Given the description of an element on the screen output the (x, y) to click on. 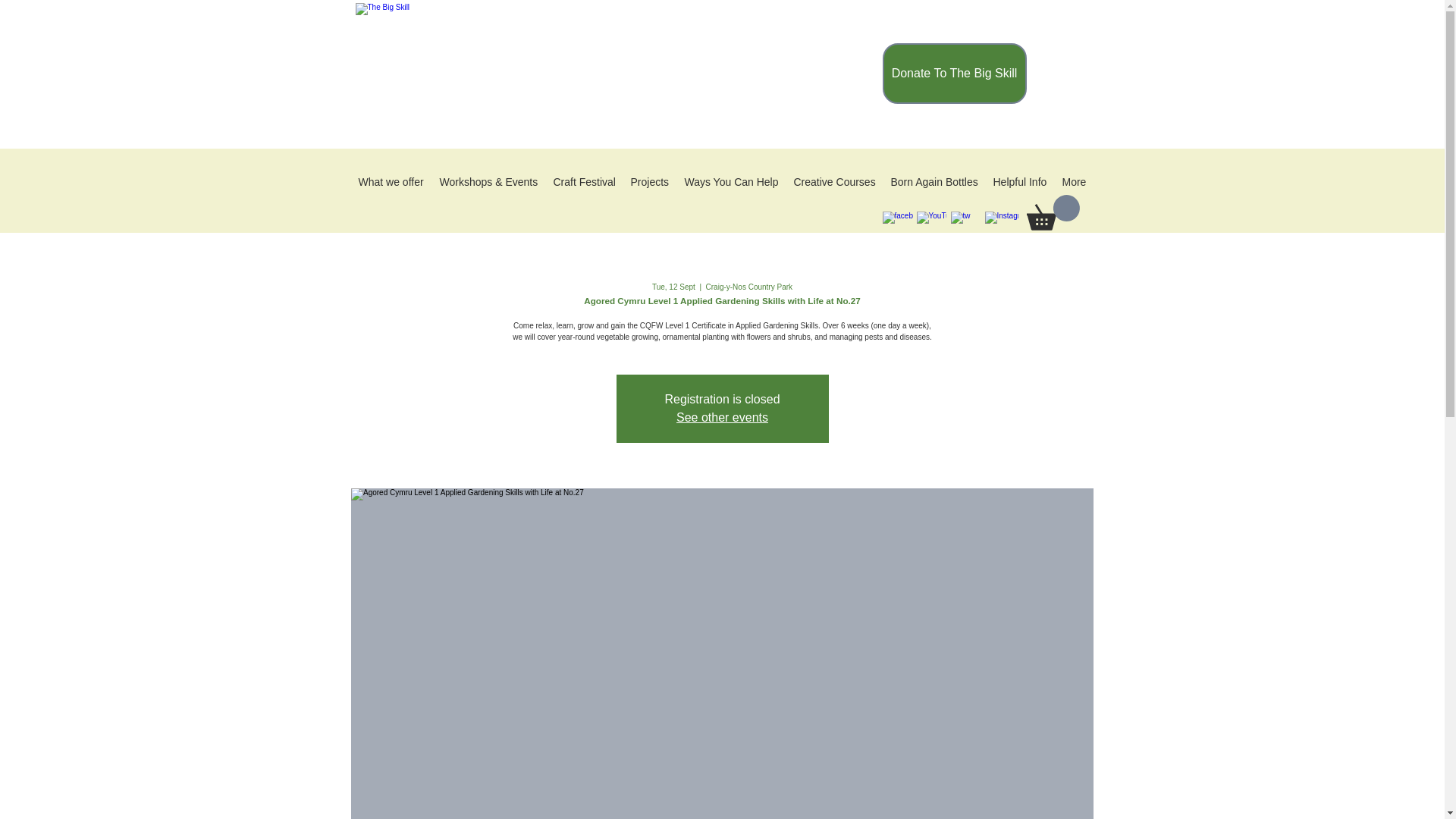
Donate To The Big Skill (954, 73)
Ways You Can Help (731, 182)
Creative Courses (834, 182)
Projects (650, 182)
Helpful Info (1019, 182)
Born Again Bottles (933, 182)
Craft Festival (584, 182)
What we offer (390, 182)
See other events (722, 417)
